Given the description of an element on the screen output the (x, y) to click on. 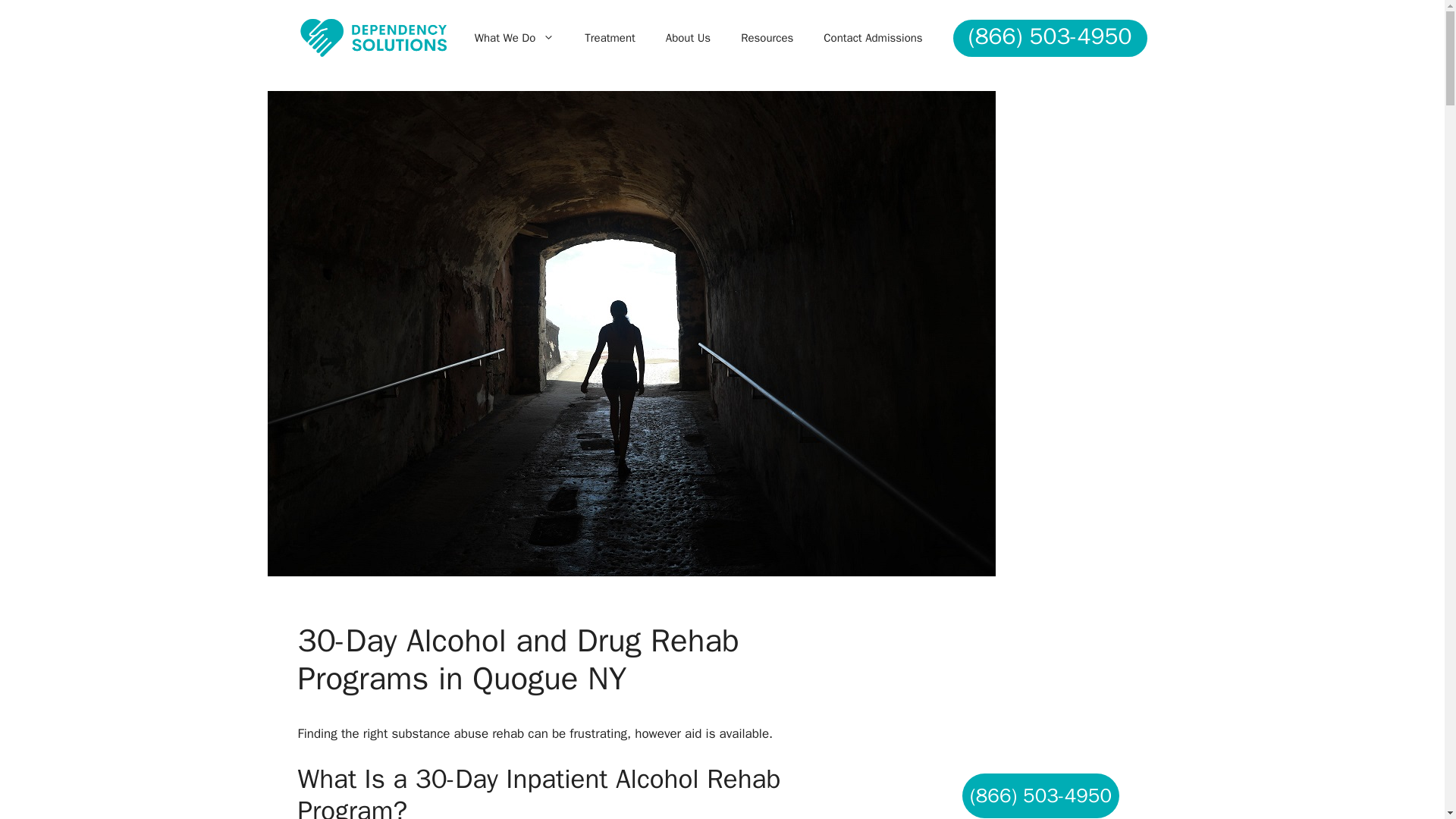
Contact Admissions (872, 37)
Dependency Solutions (372, 37)
Resources (766, 37)
What We Do (515, 37)
Treatment (609, 37)
Dependency Solutions (372, 36)
About Us (687, 37)
